Given the description of an element on the screen output the (x, y) to click on. 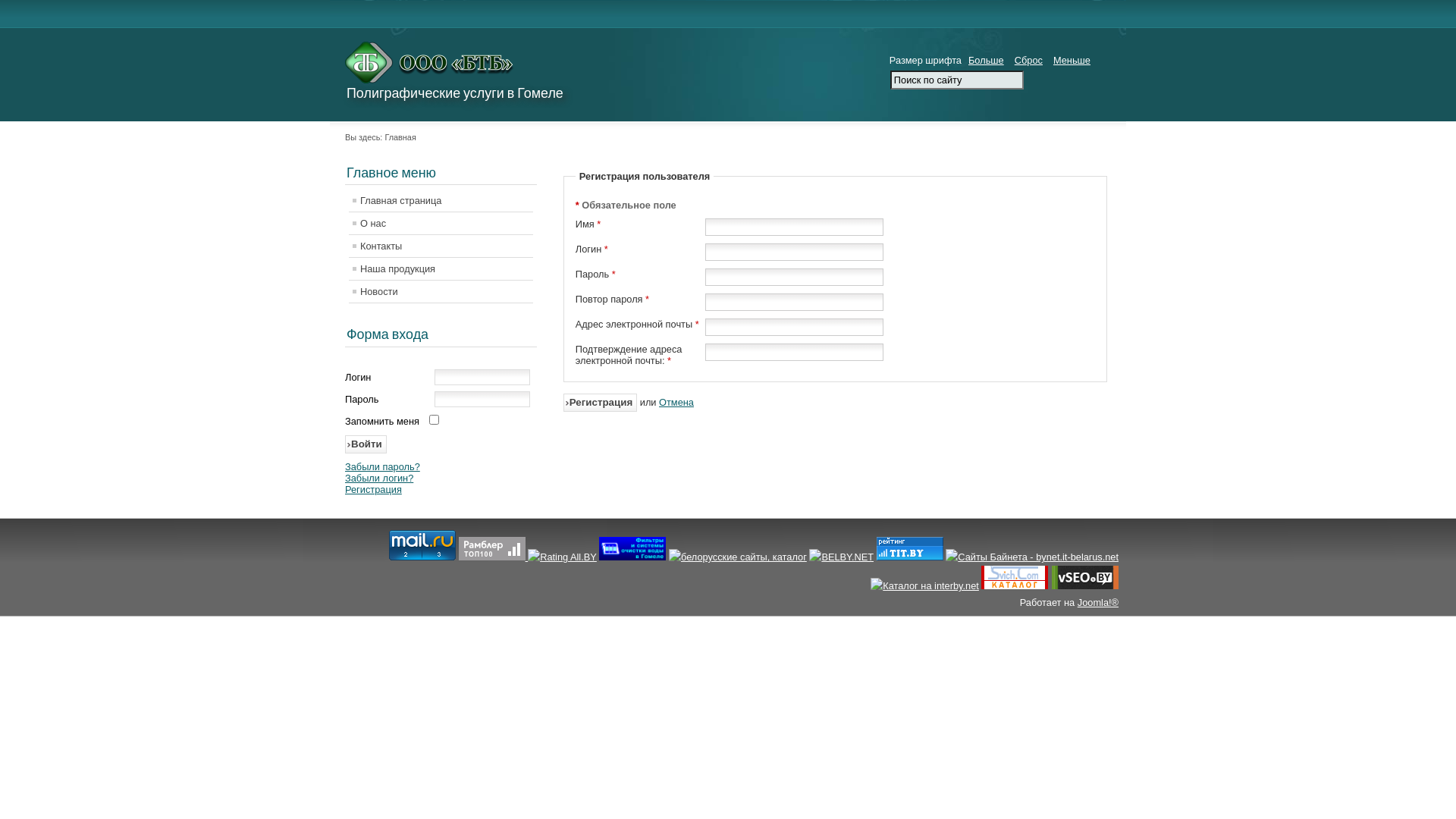
BELBY.NET Element type: hover (841, 556)
www.tit.by Element type: hover (909, 556)
Rambler's Top100 Element type: hover (491, 548)
